Given the description of an element on the screen output the (x, y) to click on. 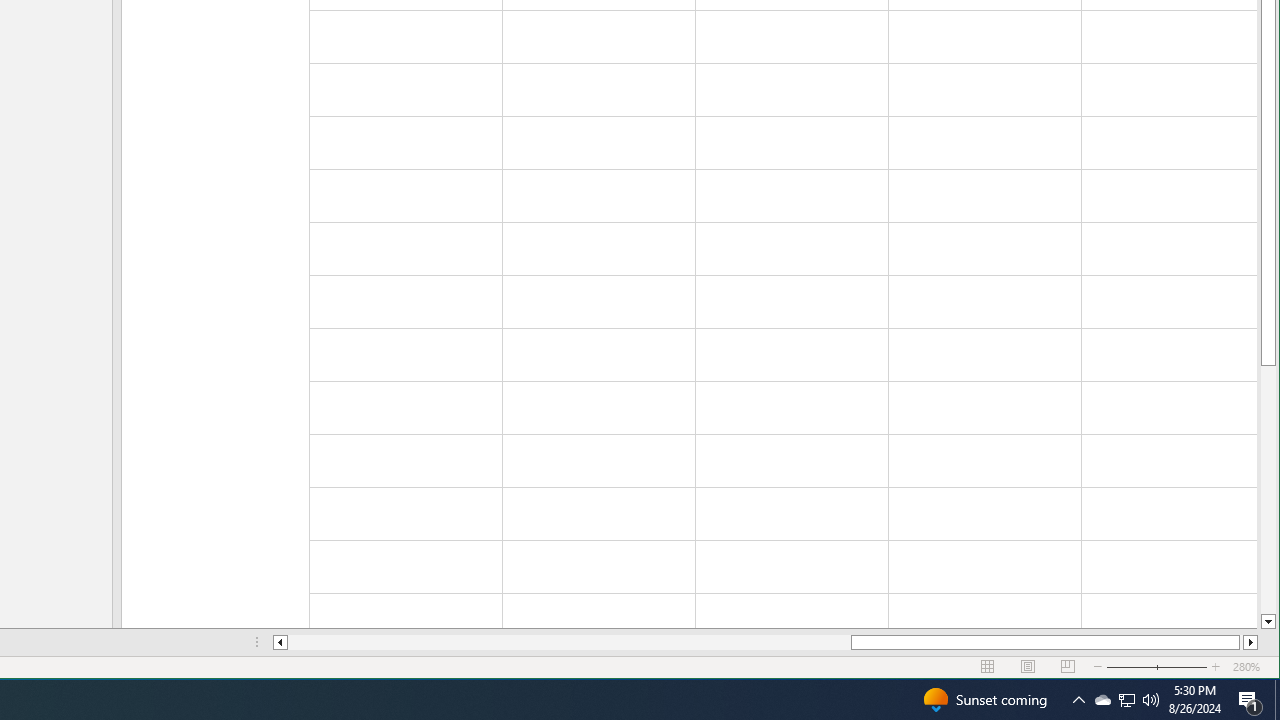
Sunset coming (984, 699)
Page Break Preview (1068, 667)
Page left (569, 642)
Zoom (1126, 699)
